Given the description of an element on the screen output the (x, y) to click on. 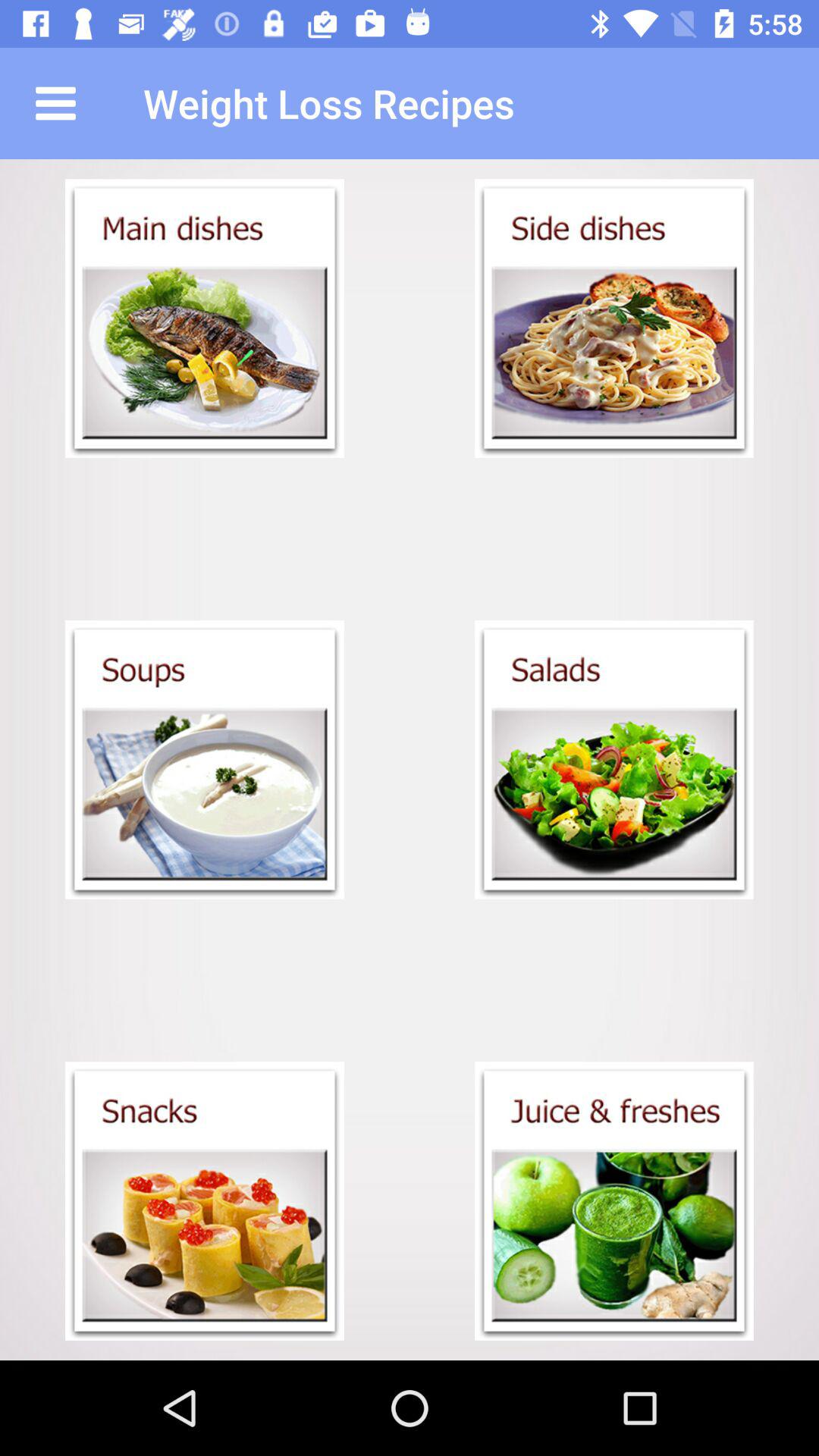
choose icon on the left (204, 759)
